Given the description of an element on the screen output the (x, y) to click on. 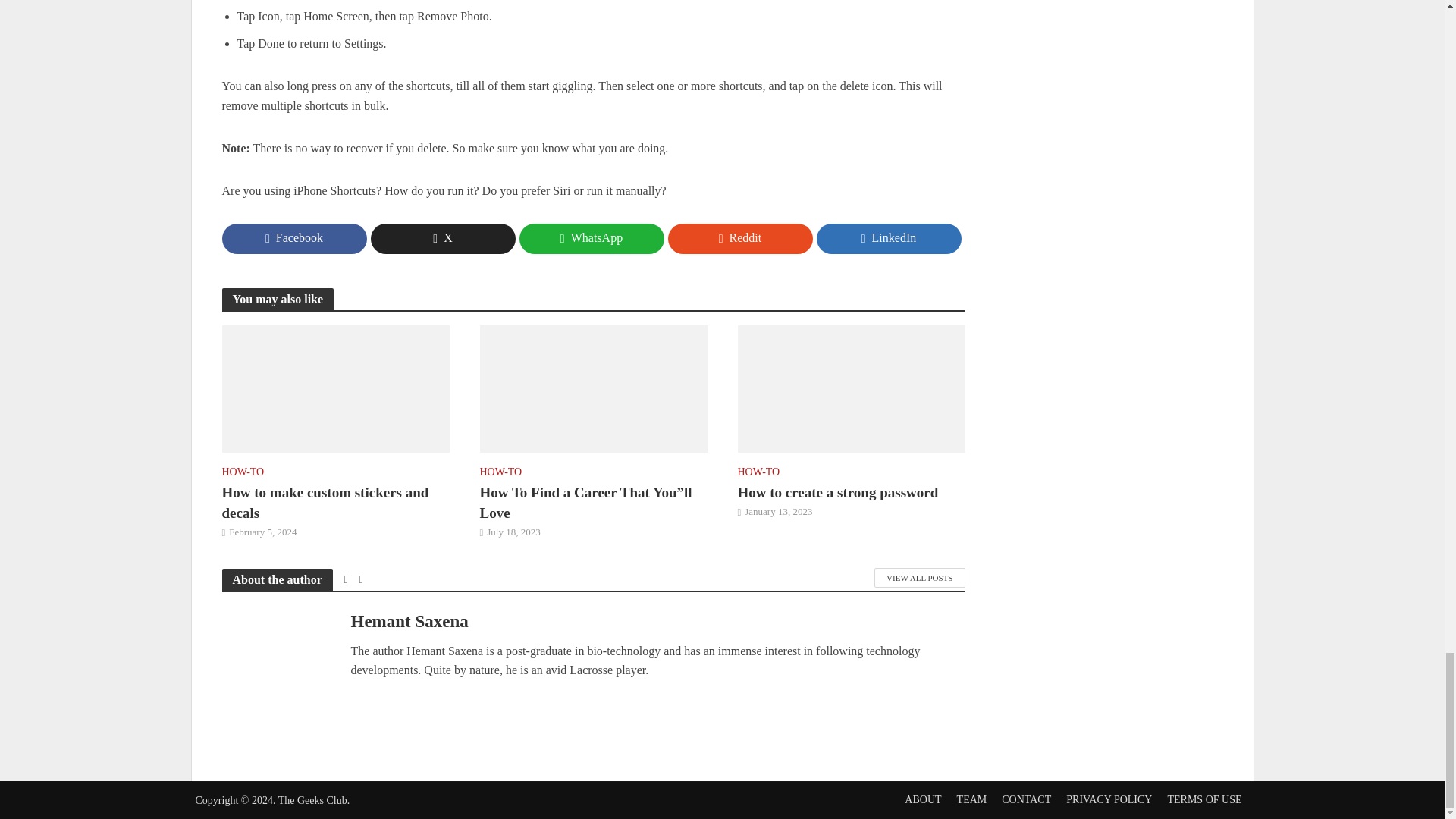
How to make custom stickers and decals (334, 386)
How to create a strong password (849, 386)
